Given the description of an element on the screen output the (x, y) to click on. 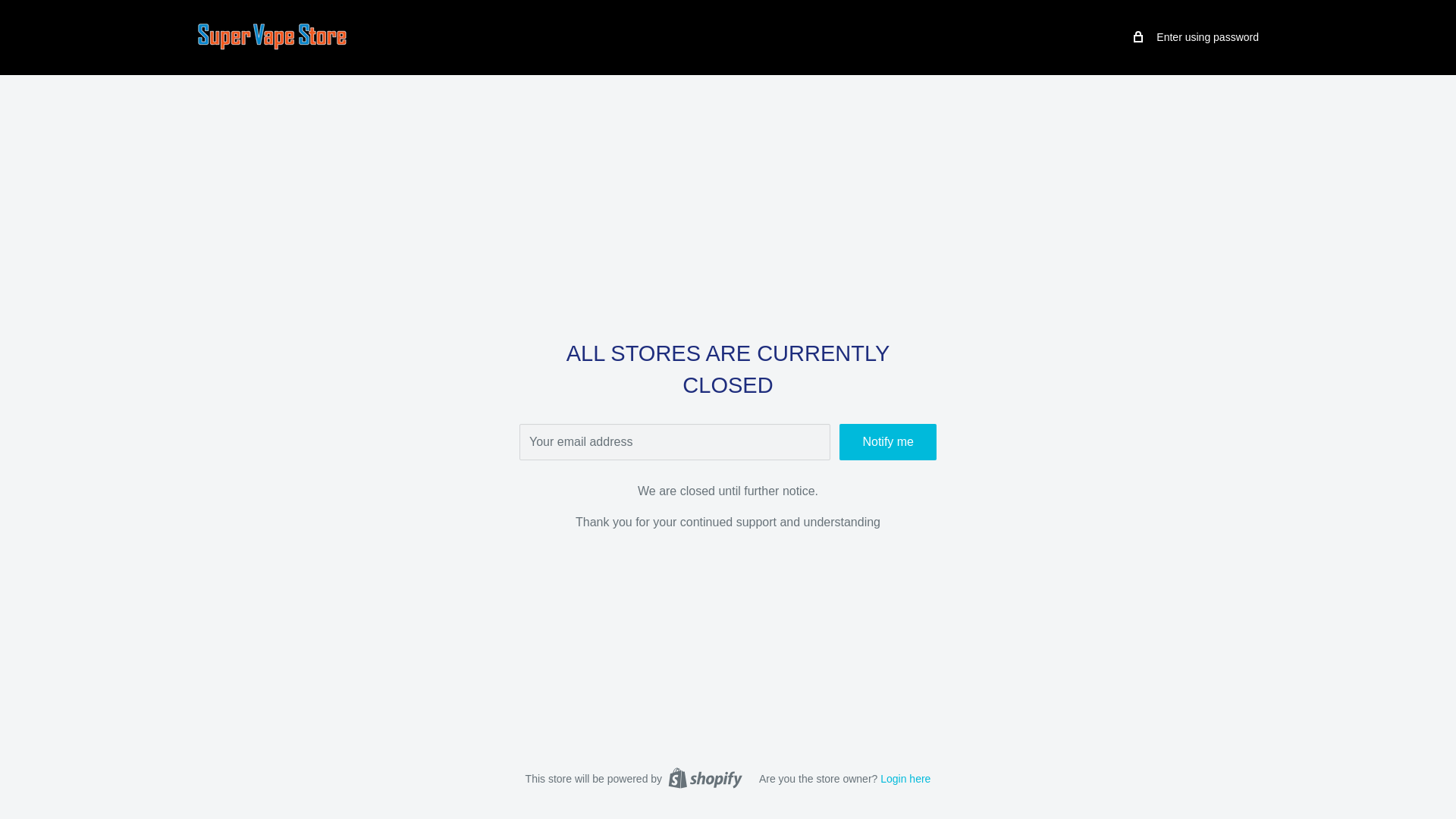
Notify me (888, 442)
Create your own online store with Shopify (705, 777)
Login here (905, 778)
Enter using password (1196, 36)
